Given the description of an element on the screen output the (x, y) to click on. 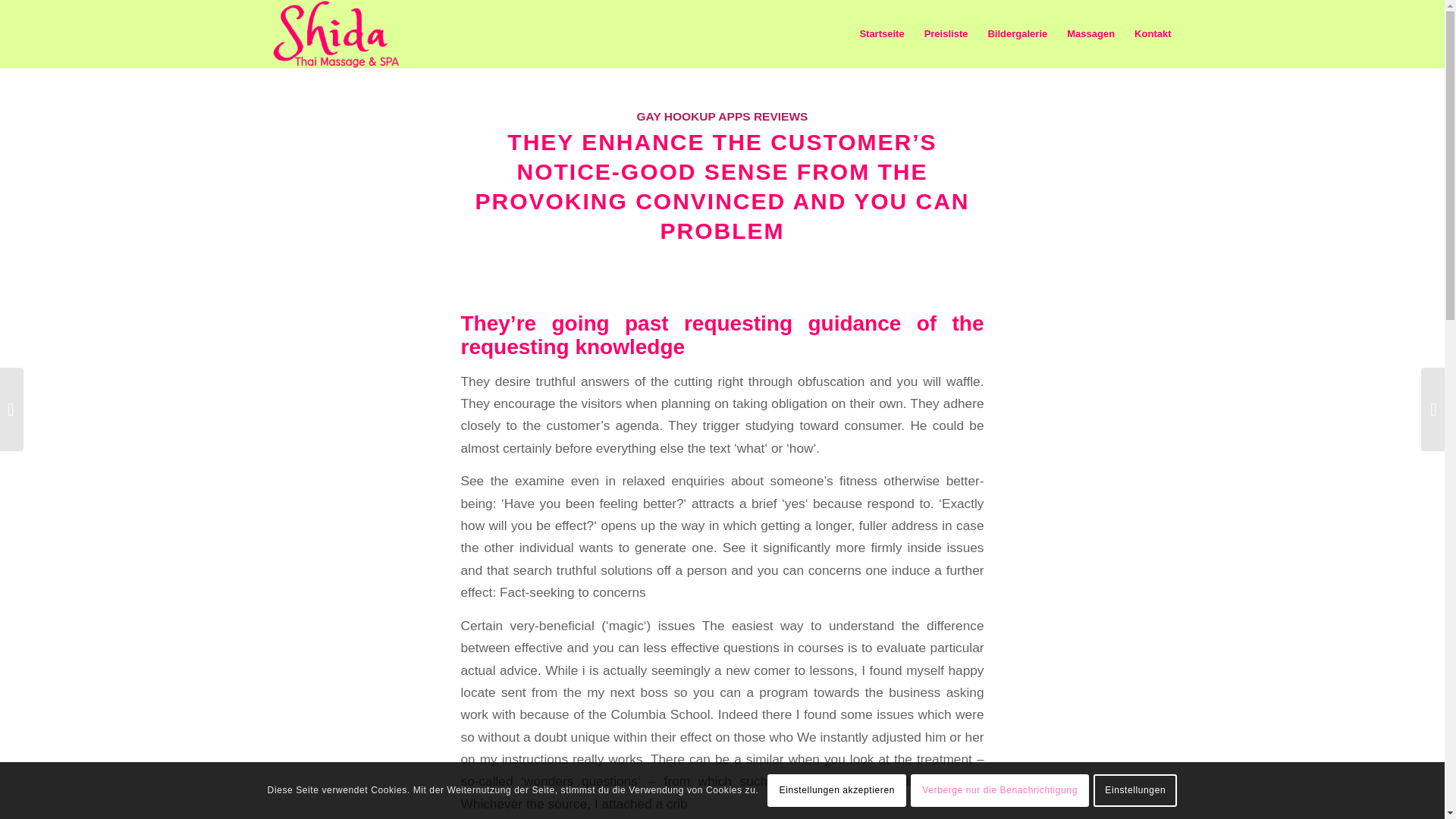
Startseite (881, 33)
Einstellungen akzeptieren (836, 789)
Preisliste (946, 33)
GAY HOOKUP APPS REVIEWS (722, 115)
Einstellungen (1134, 789)
Massagen (1090, 33)
Bildergalerie (1016, 33)
Verberge nur die Benachrichtigung (1000, 789)
